Given the description of an element on the screen output the (x, y) to click on. 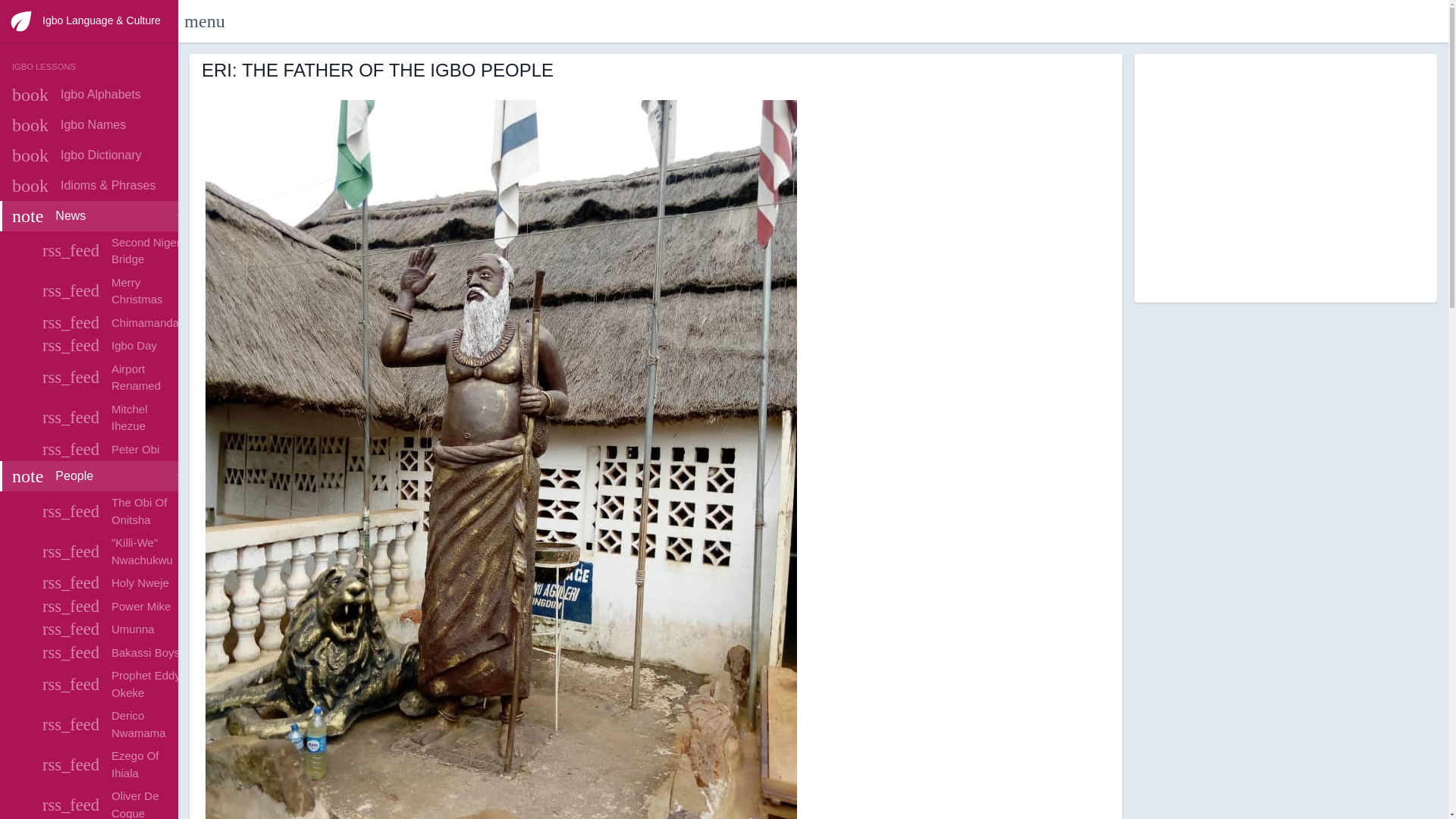
Advertisement (97, 124)
